Given the description of an element on the screen output the (x, y) to click on. 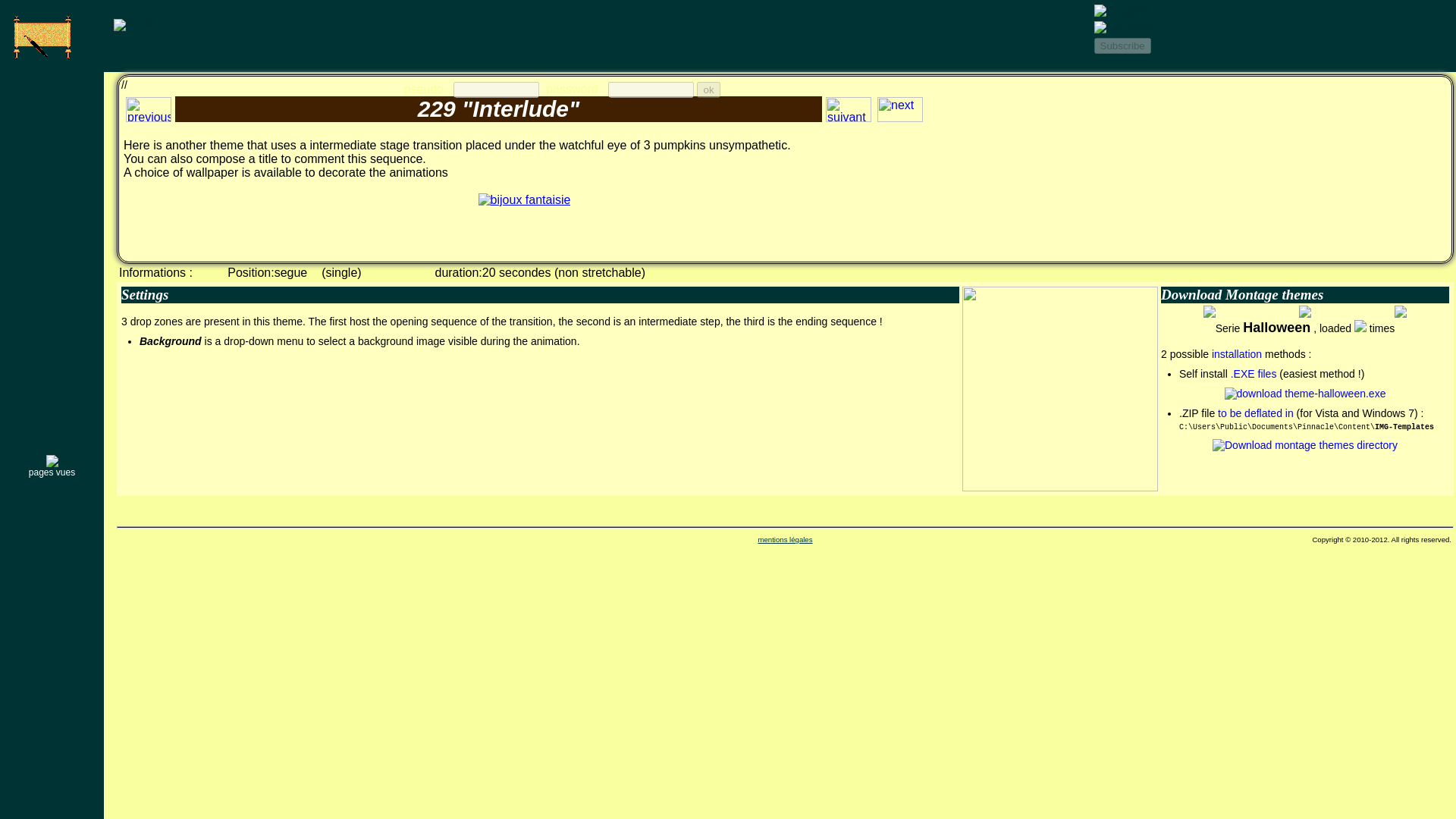
email to 20cents-video (47, 37)
Subscribe (1121, 45)
English (1118, 11)
ok (708, 89)
Francais (1122, 28)
Subscribe (1121, 45)
ok (708, 89)
Donate (134, 24)
